Given the description of an element on the screen output the (x, y) to click on. 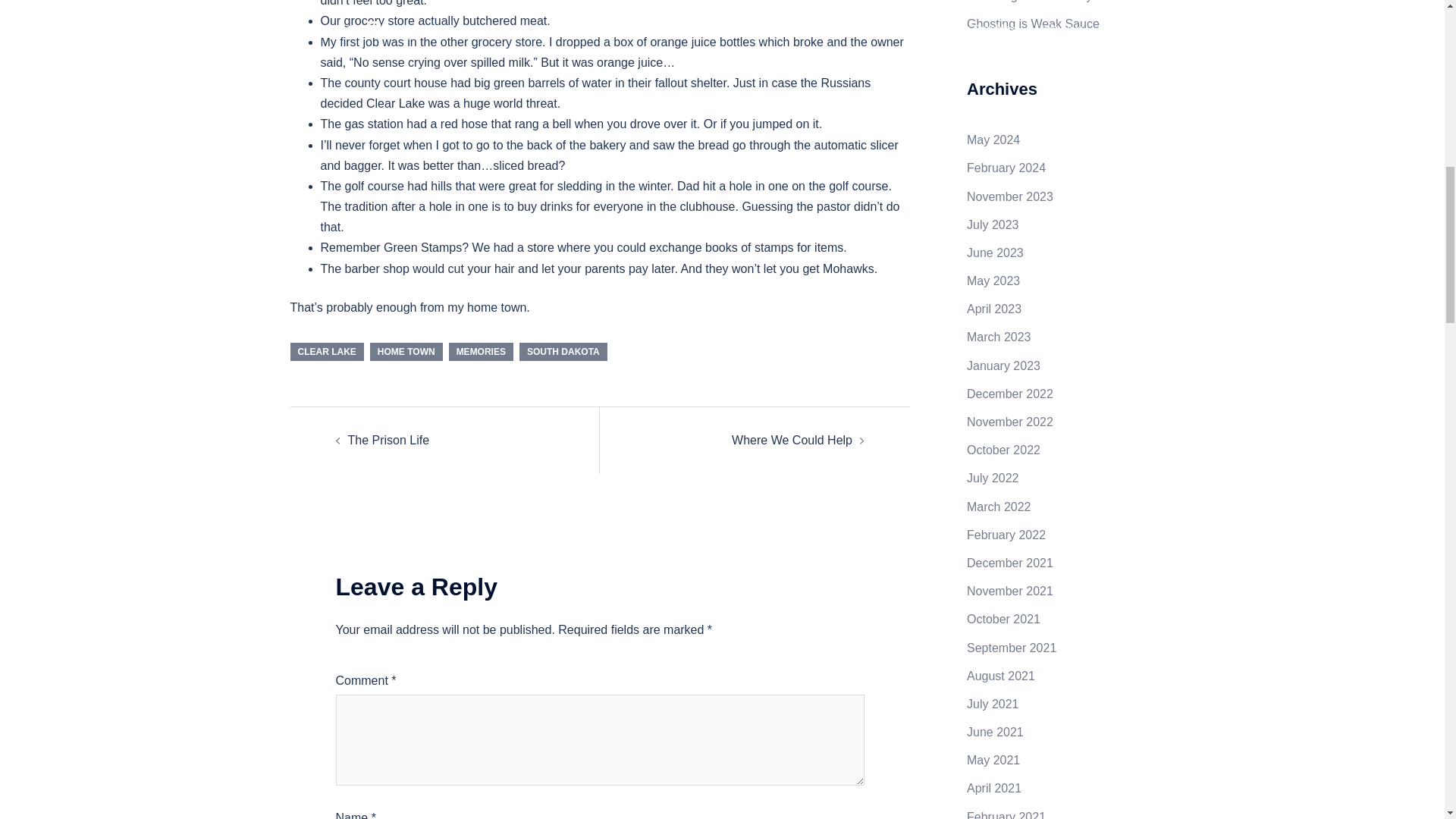
CLEAR LAKE (325, 352)
HOME TOWN (405, 352)
The Prison Life (388, 440)
SOUTH DAKOTA (563, 352)
Where We Could Help (791, 440)
MEMORIES (480, 352)
